Given the description of an element on the screen output the (x, y) to click on. 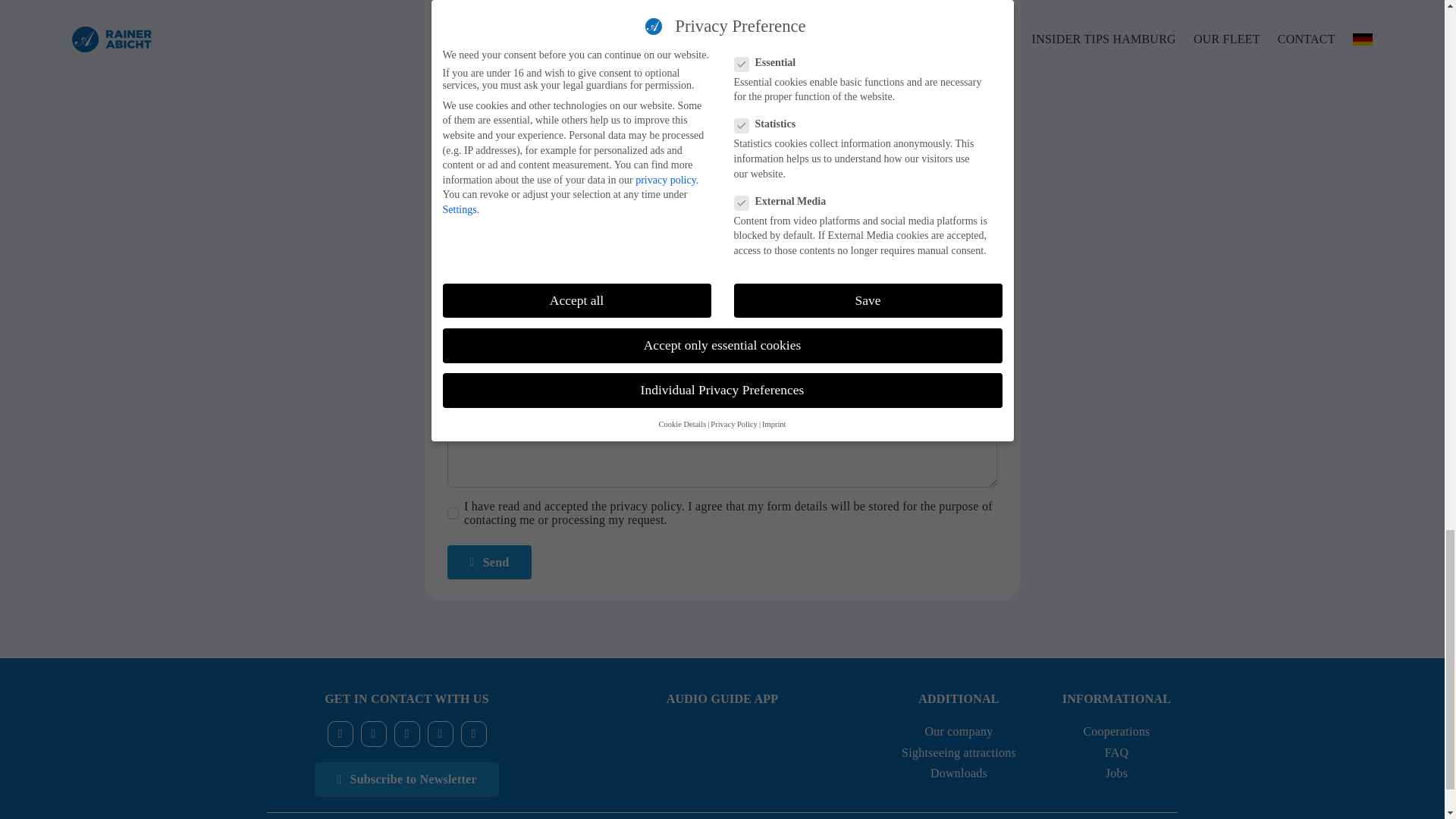
Tiktok (407, 733)
Email (440, 733)
Jobs (1115, 772)
Phone (473, 733)
Subscribe to Newsletter (406, 779)
Facebook (340, 733)
Instagram (374, 733)
Send (488, 562)
FAQ (1117, 752)
Cooperations (1116, 730)
Sightseeing attractions (958, 752)
Downloads (958, 772)
Our company (958, 730)
